Given the description of an element on the screen output the (x, y) to click on. 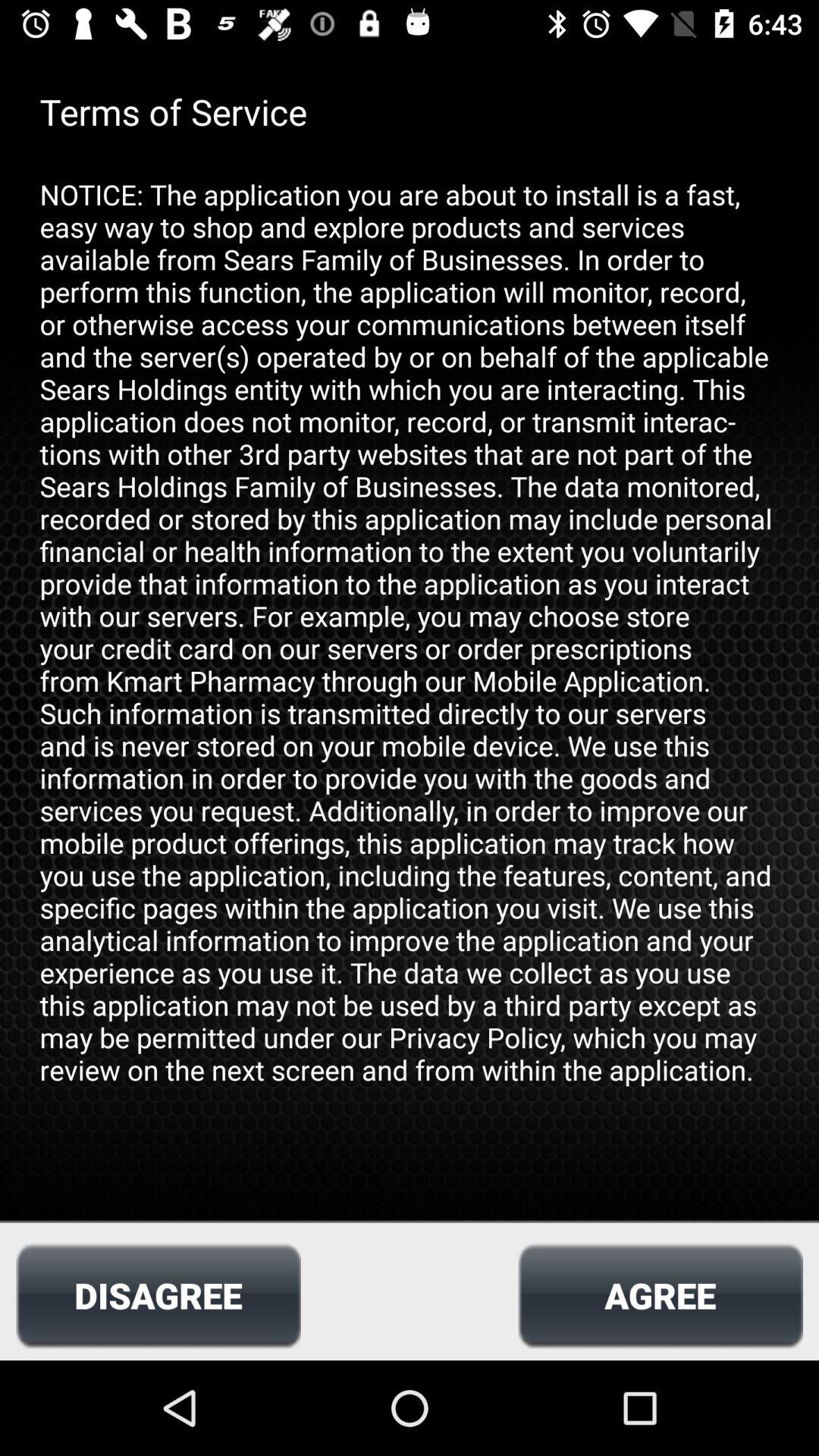
press agree (660, 1295)
